Given the description of an element on the screen output the (x, y) to click on. 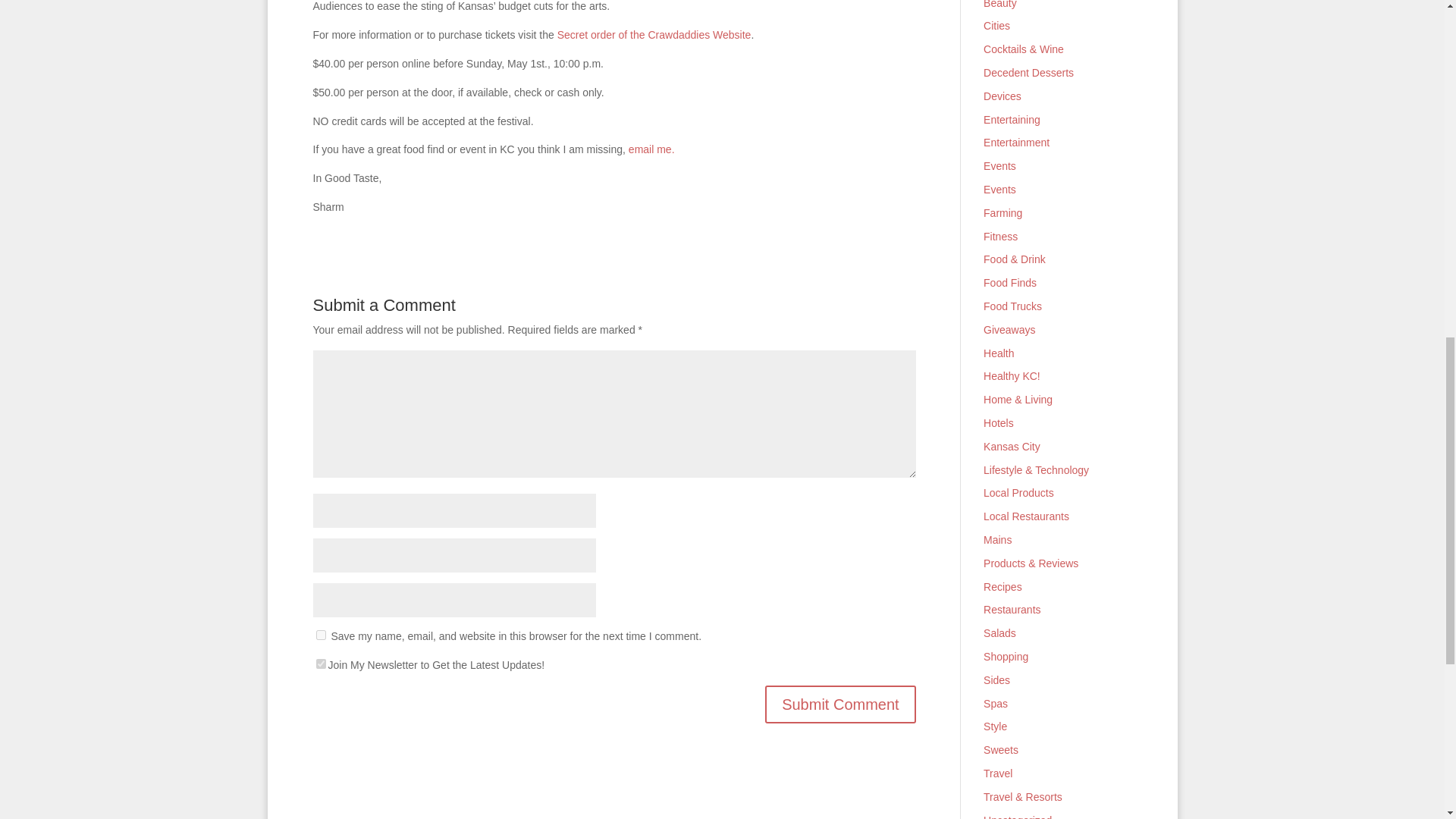
Cities (997, 25)
1 (319, 664)
yes (319, 634)
Decedent Desserts (1029, 72)
email me. (651, 149)
Devices (1003, 96)
Secret order of the Crawdaddies Website (654, 34)
Beauty (1000, 4)
Submit Comment (840, 704)
Submit Comment (840, 704)
